Given the description of an element on the screen output the (x, y) to click on. 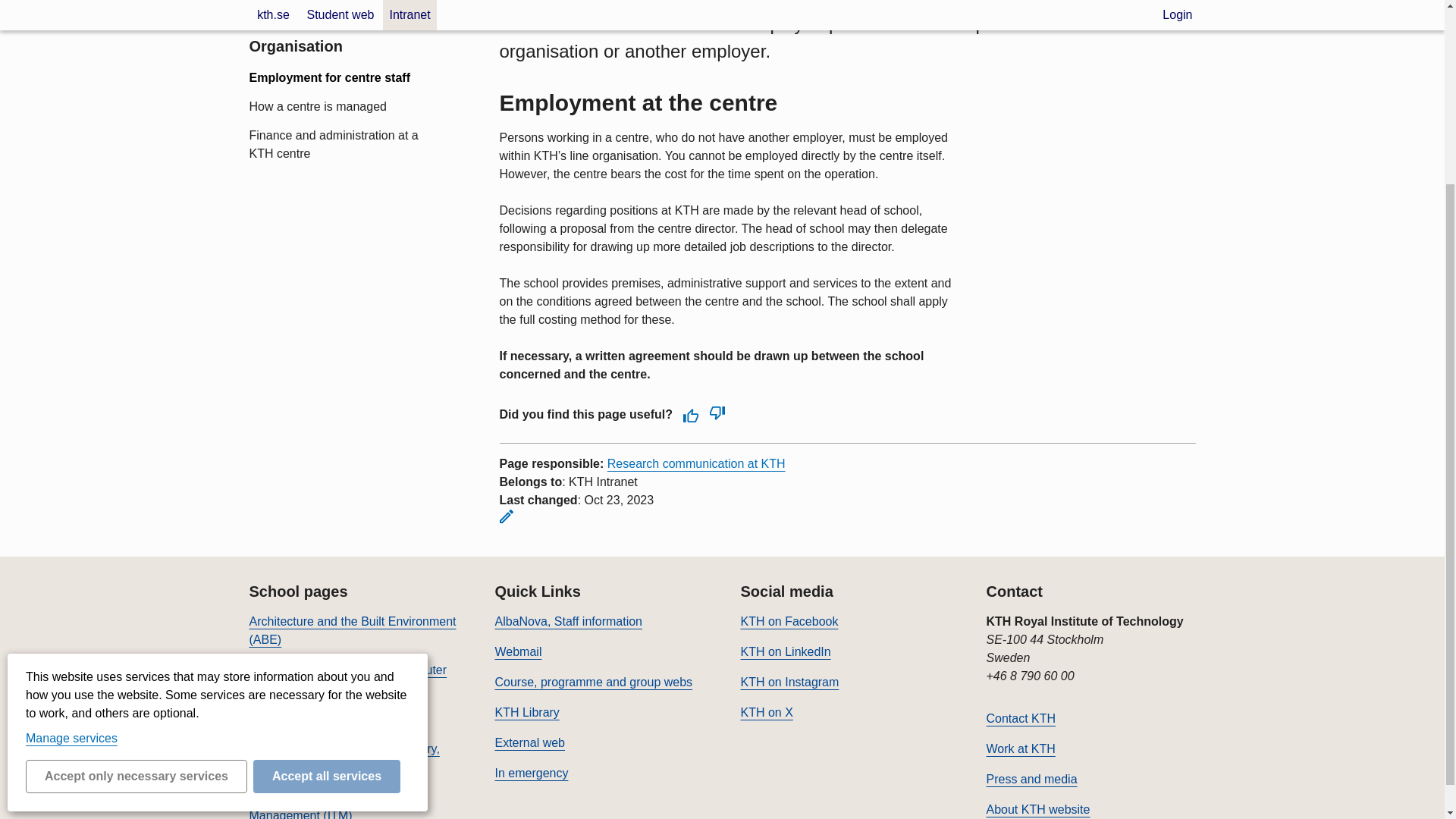
Accept only necessary services (136, 540)
Accept all services (326, 540)
Manage services (71, 502)
